Given the description of an element on the screen output the (x, y) to click on. 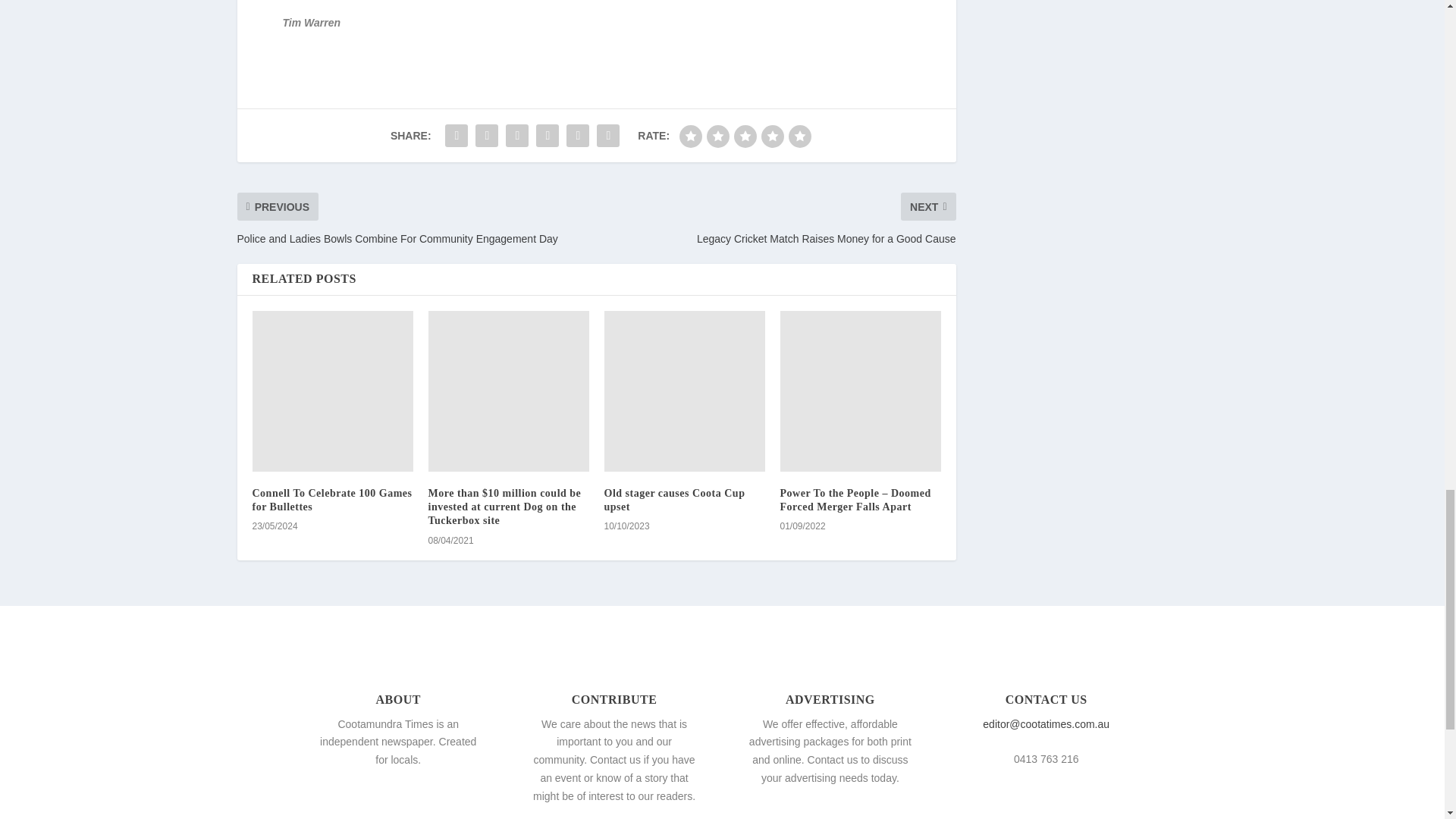
Share "Muller Receives NAWIC Excellence Award" via Facebook (456, 135)
poor (717, 136)
Share "Muller Receives NAWIC Excellence Award" via Email (577, 135)
bad (690, 136)
gorgeous (799, 136)
Connell To Celebrate 100 Games for Bullettes (331, 499)
Share "Muller Receives NAWIC Excellence Award" via LinkedIn (547, 135)
Connell To Celebrate 100 Games for Bullettes (331, 391)
Share "Muller Receives NAWIC Excellence Award" via Print (607, 135)
good (772, 136)
